Given the description of an element on the screen output the (x, y) to click on. 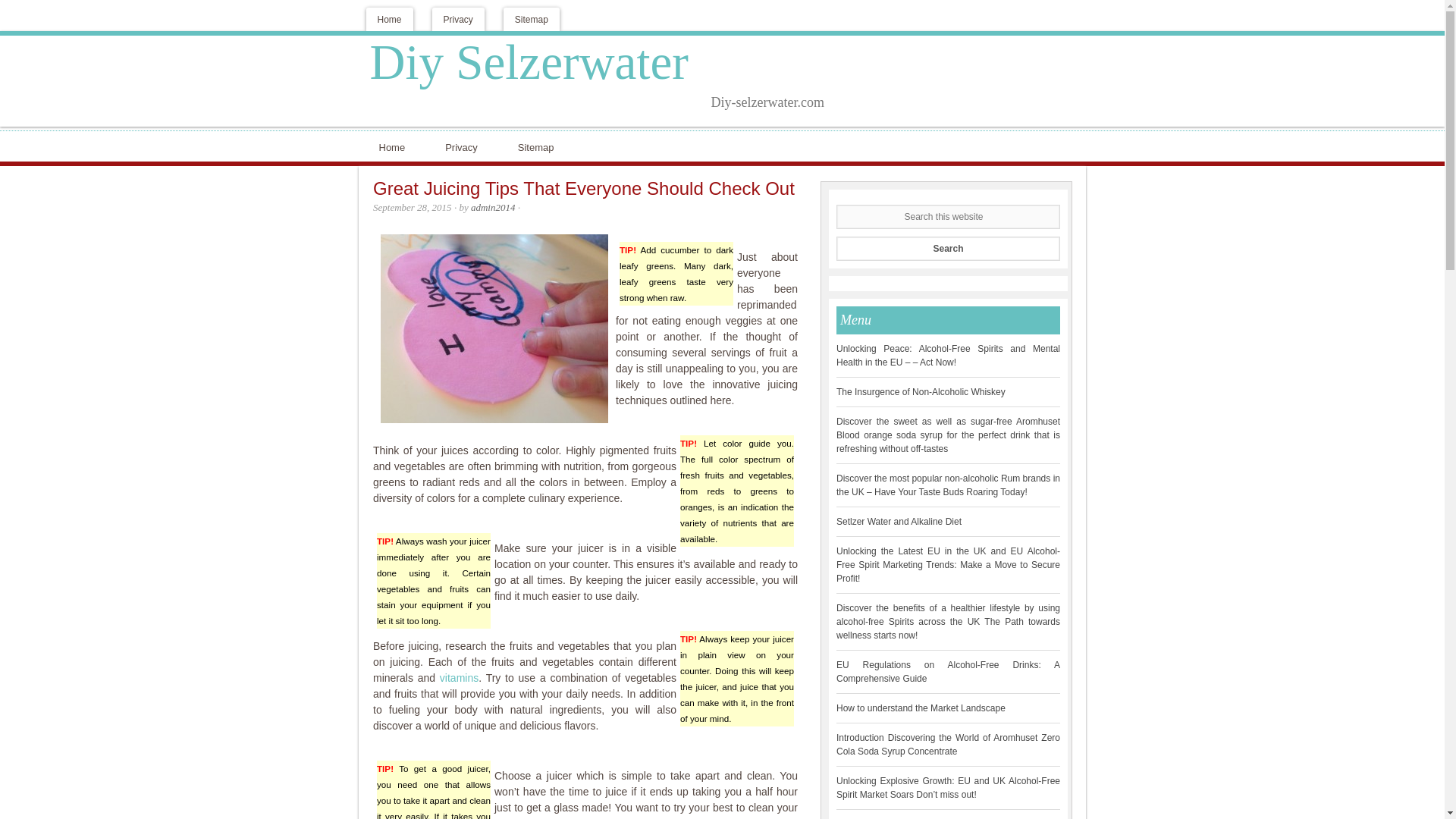
Search (947, 248)
Diy Selzerwater (528, 62)
vitamins (459, 677)
Search (947, 248)
Home (388, 19)
Sitemap (539, 146)
Home (395, 146)
Privacy (458, 19)
